Given the description of an element on the screen output the (x, y) to click on. 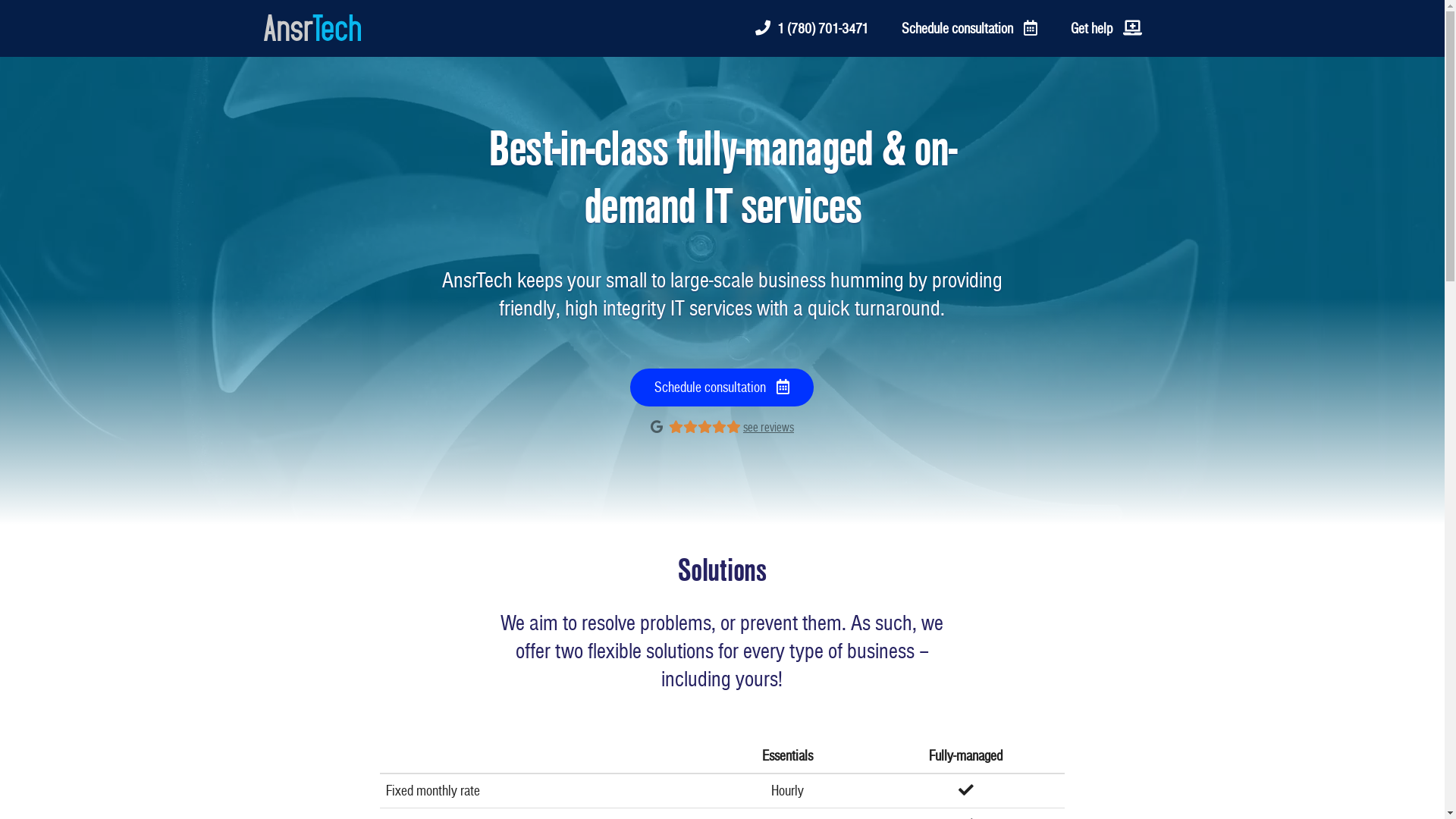
Get help Element type: text (1106, 28)
Schedule consultation Element type: text (968, 28)
1 (780) 701-3471 Element type: text (811, 28)
see reviews Element type: text (768, 427)
Schedule consultation Element type: text (721, 387)
